Given the description of an element on the screen output the (x, y) to click on. 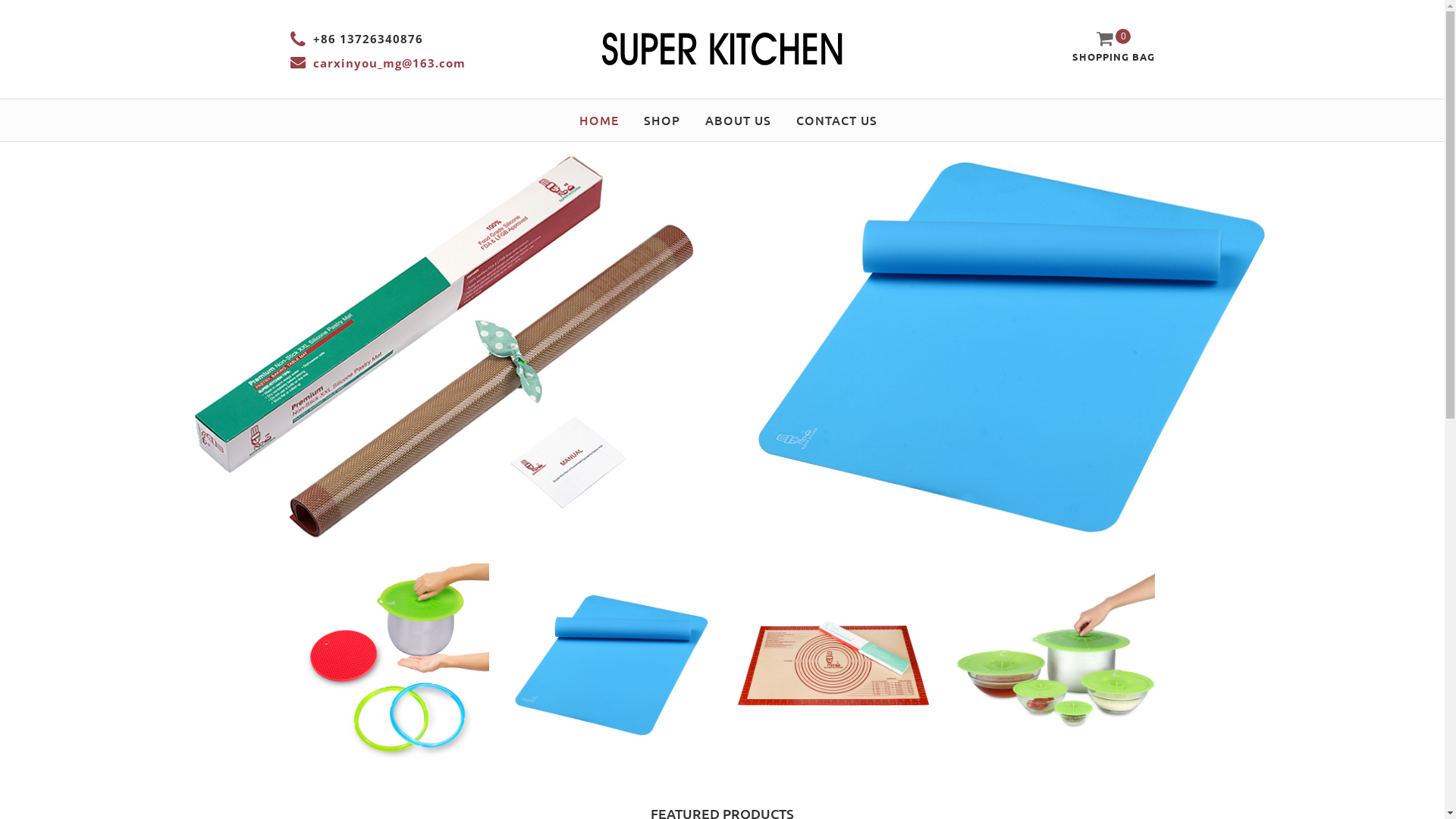
0
SHOPPING BAG Element type: text (1113, 47)
ABOUT US Element type: text (737, 120)
SHOP Element type: text (661, 120)
CONTACT US Element type: text (830, 120)
carxinyou_mg@163.com Element type: text (388, 62)
HOME Element type: text (598, 120)
